Given the description of an element on the screen output the (x, y) to click on. 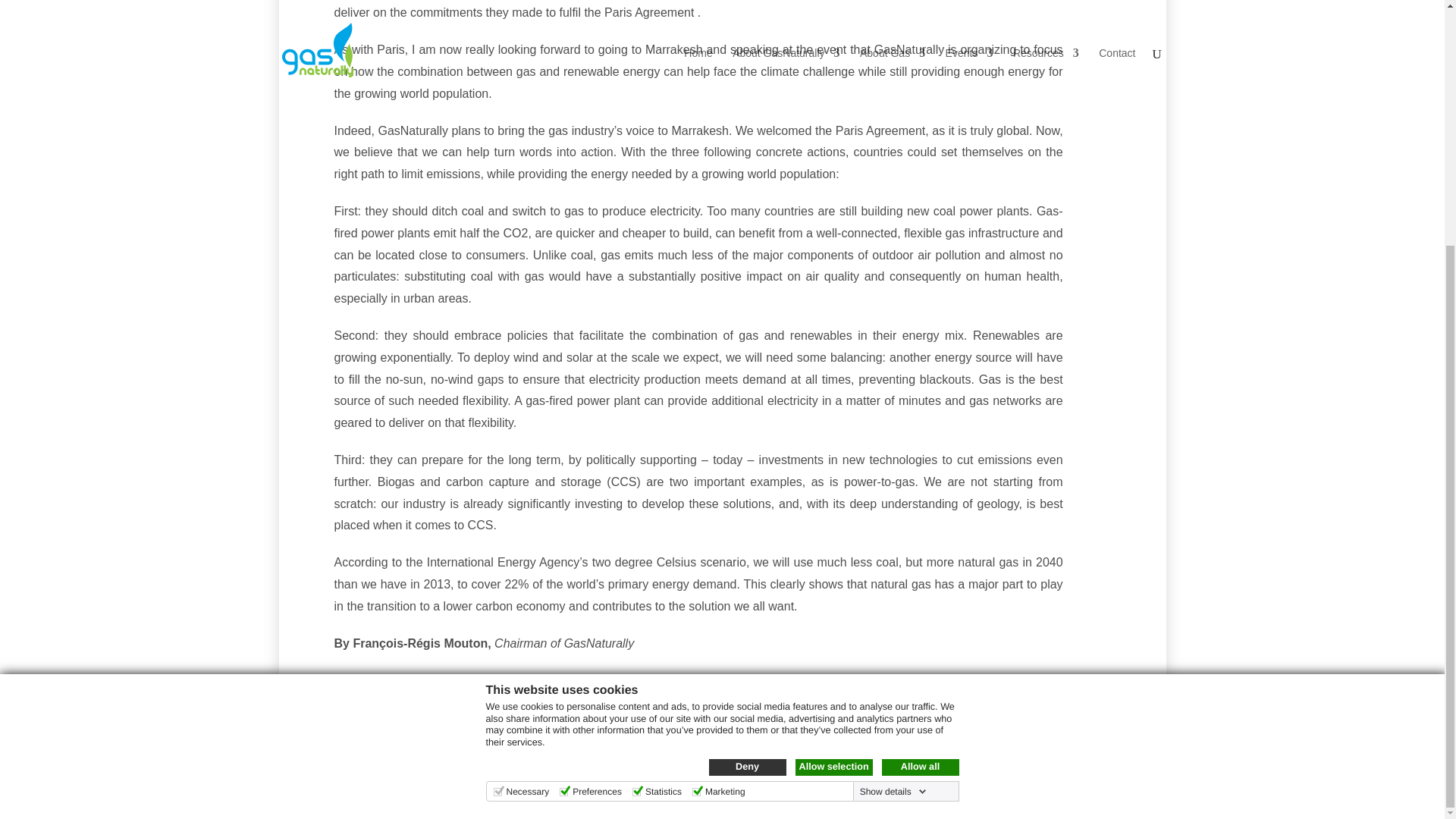
Allow all (919, 425)
Show details (893, 449)
Allow selection (833, 425)
Deny (746, 425)
